Given the description of an element on the screen output the (x, y) to click on. 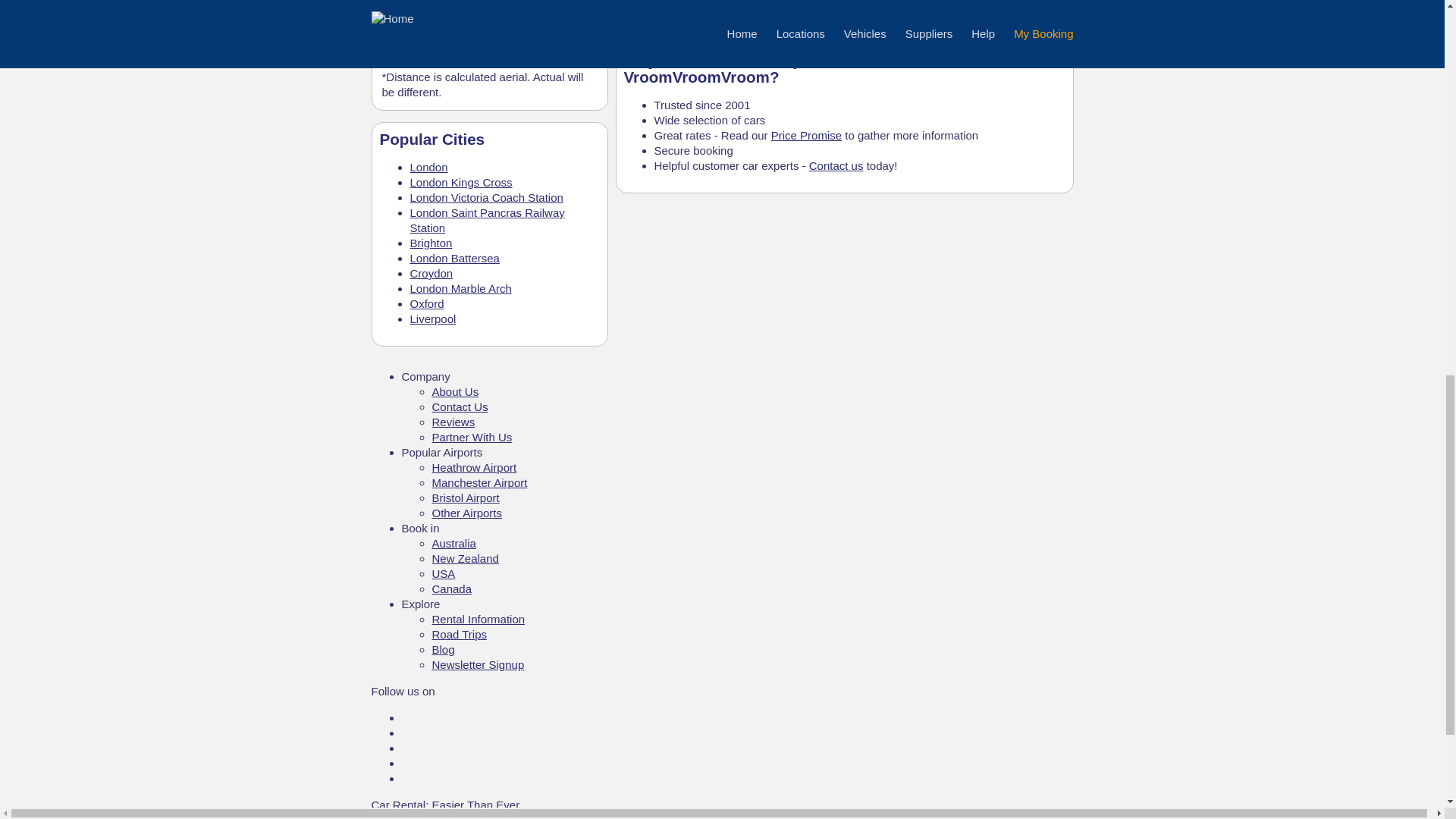
Rochester (407, 5)
Oxford (426, 303)
London Kings Cross (460, 182)
London Saint Pancras Railway Station (486, 220)
Brighton (430, 242)
Brentwood (408, 21)
Croydon (430, 273)
Orpington (406, 58)
London (427, 166)
London Victoria Coach Station (485, 196)
London City Airport (430, 40)
London Battersea (454, 257)
London Marble Arch (460, 287)
